Given the description of an element on the screen output the (x, y) to click on. 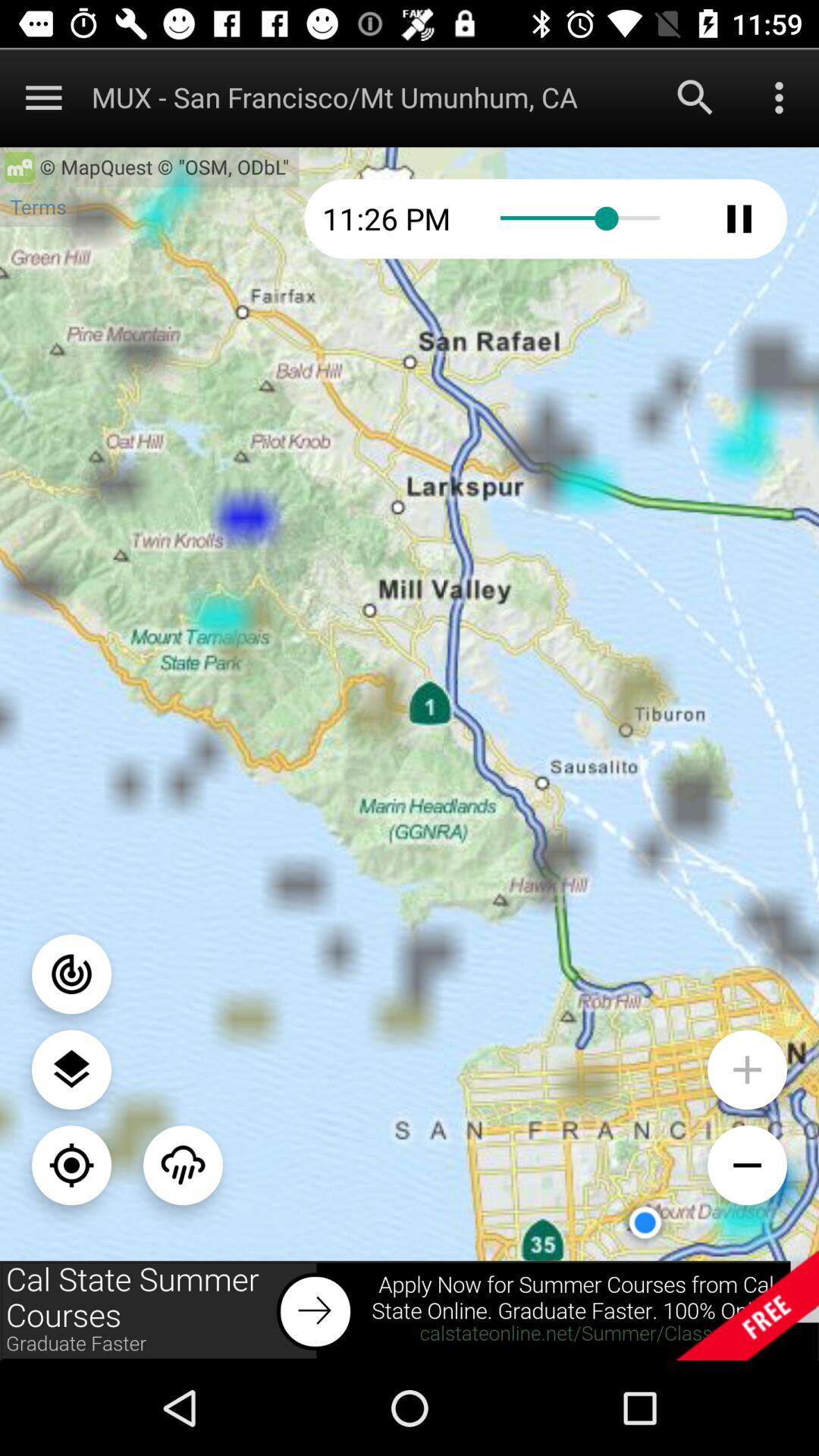
see advertisement (409, 1310)
